Given the description of an element on the screen output the (x, y) to click on. 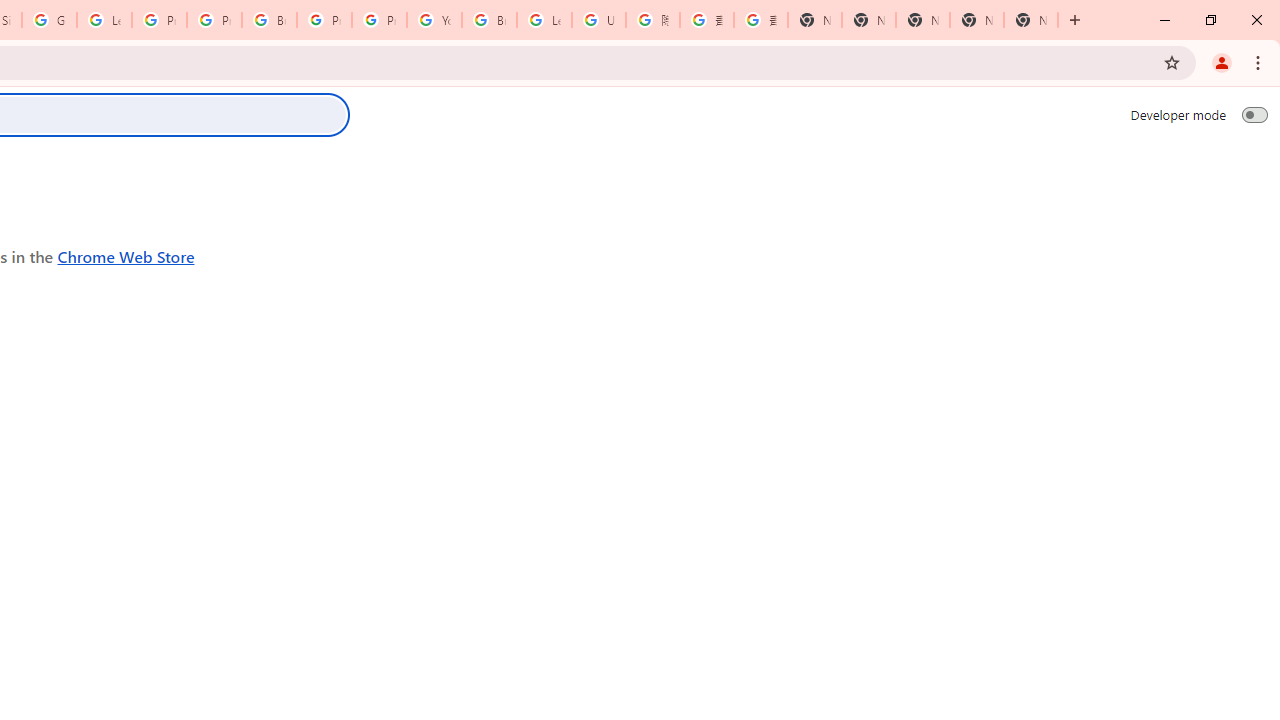
Developer mode (1254, 114)
New Tab (1030, 20)
Privacy Help Center - Policies Help (213, 20)
YouTube (434, 20)
Chrome Web Store (125, 256)
